Given the description of an element on the screen output the (x, y) to click on. 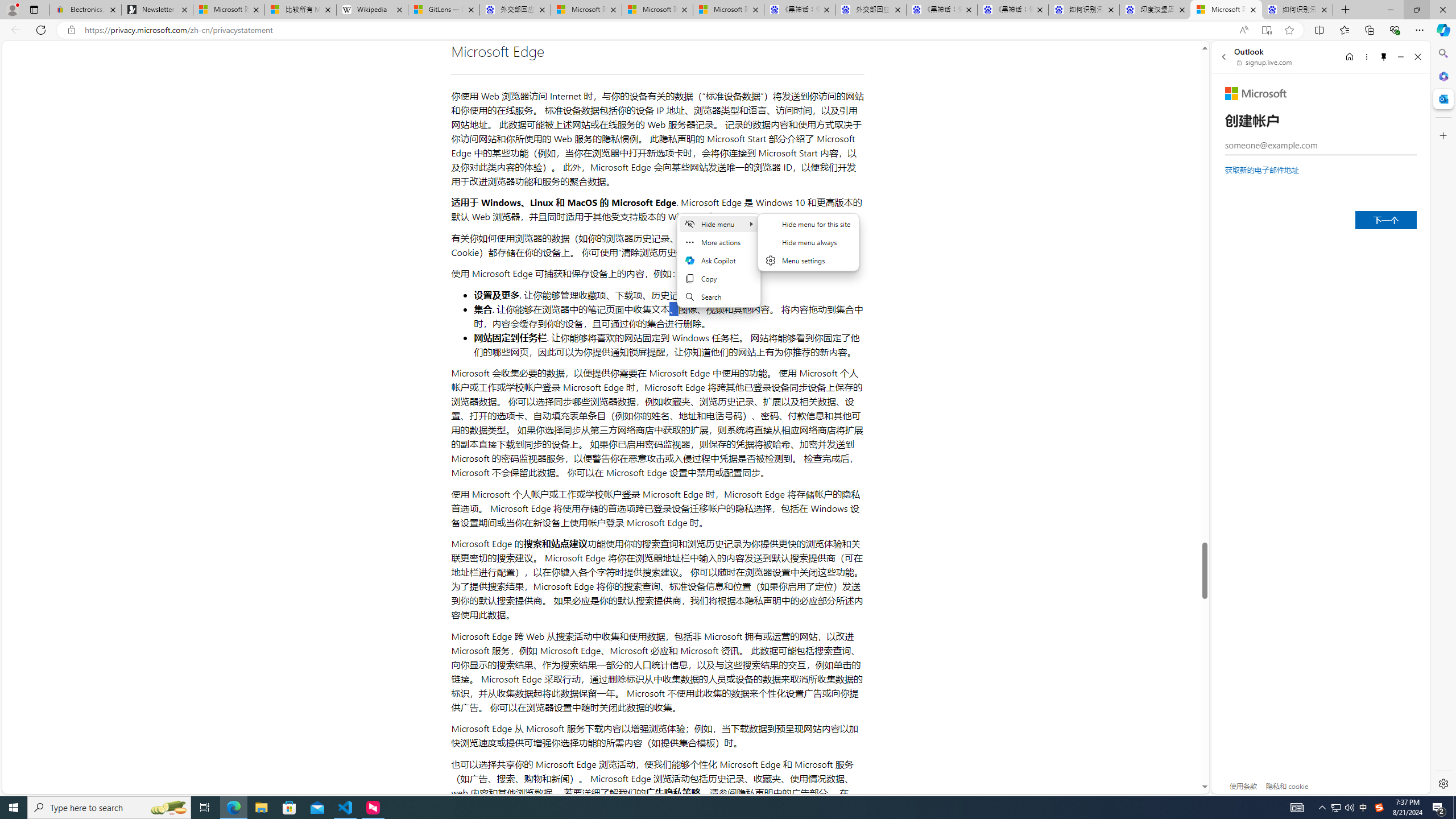
Ask Copilot (718, 260)
Mini menu on text selection (719, 266)
